Given the description of an element on the screen output the (x, y) to click on. 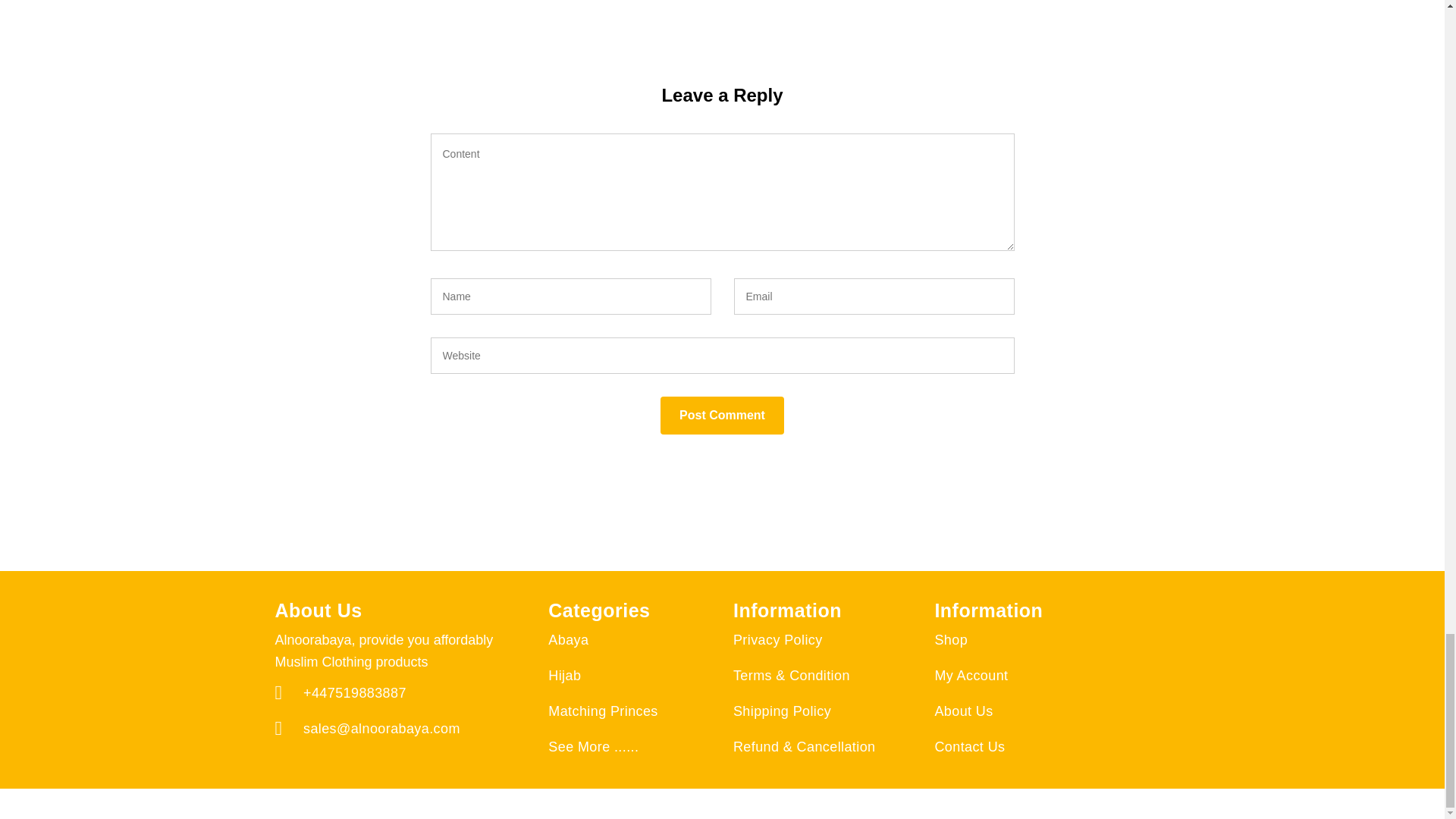
Post Comment (722, 415)
